Given the description of an element on the screen output the (x, y) to click on. 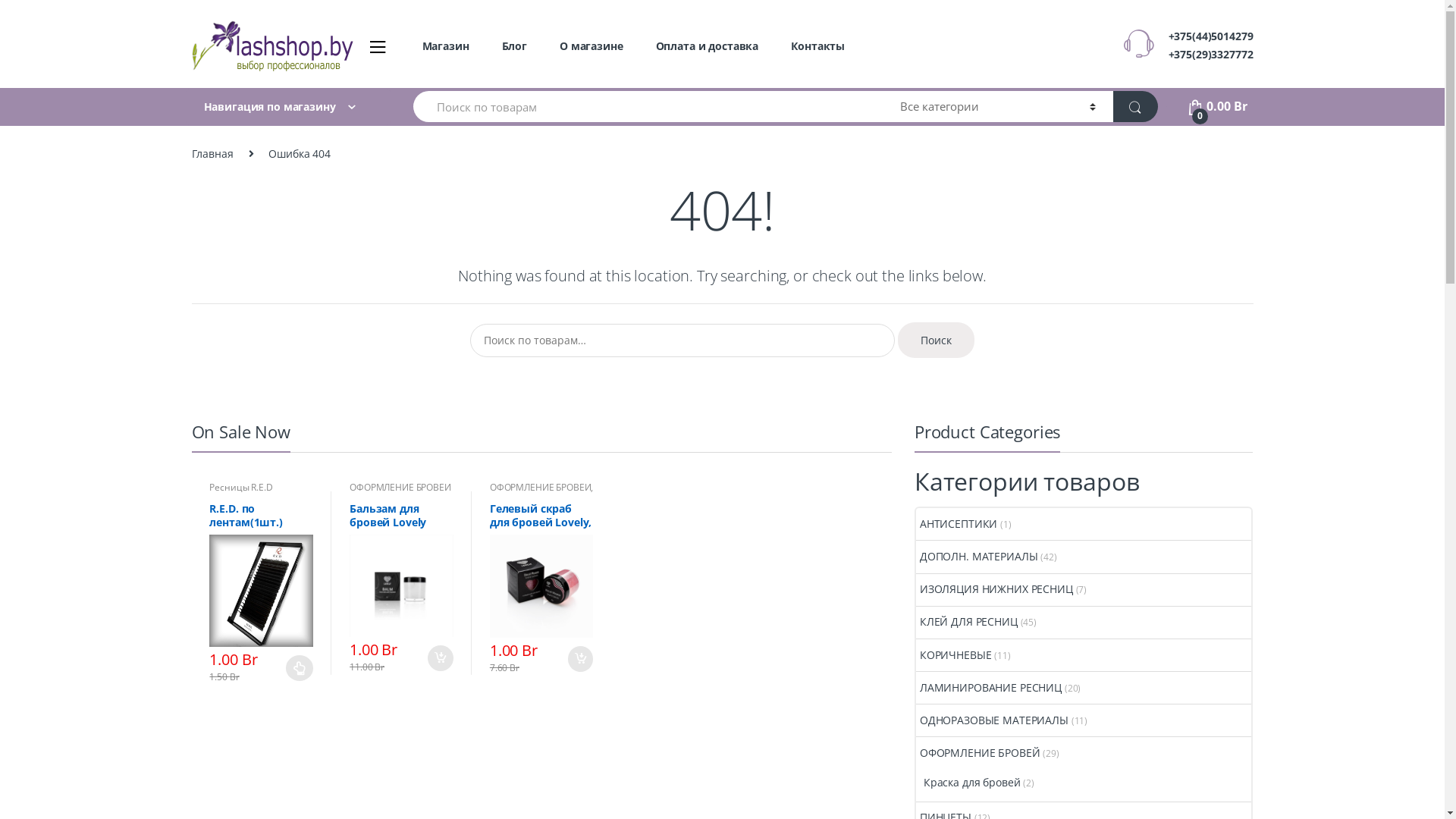
+375(44)5014279 Element type: text (1210, 35)
0
0.00 Br Element type: text (1216, 105)
